Given the description of an element on the screen output the (x, y) to click on. 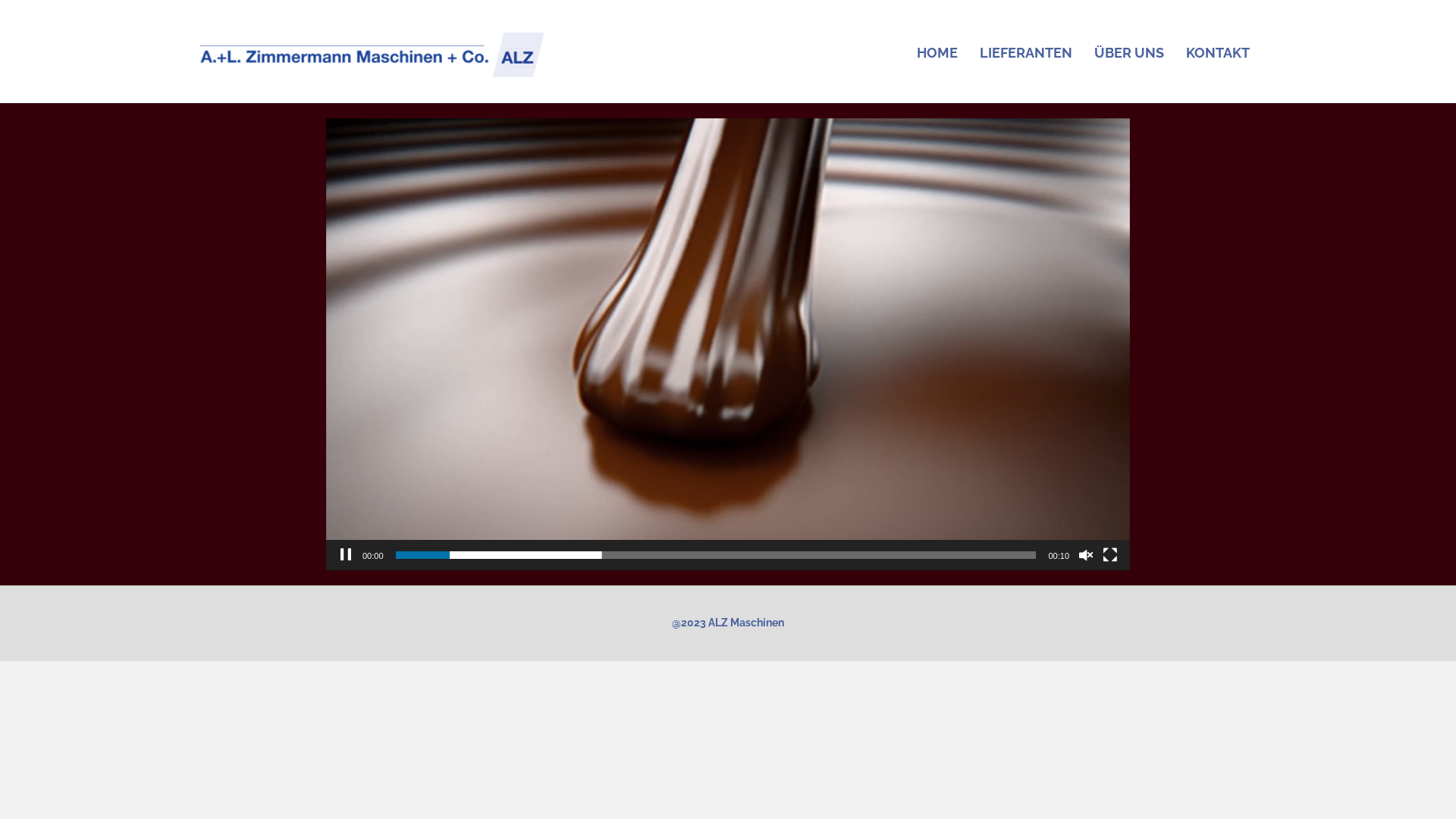
LIEFERANTEN Element type: text (1025, 52)
KONTAKT Element type: text (1217, 52)
Pause Element type: hover (345, 554)
HOME Element type: text (937, 52)
Vollbild Element type: hover (1109, 554)
Laut schalten Element type: hover (1085, 554)
LOGO NEW1 Element type: hover (370, 53)
